Given the description of an element on the screen output the (x, y) to click on. 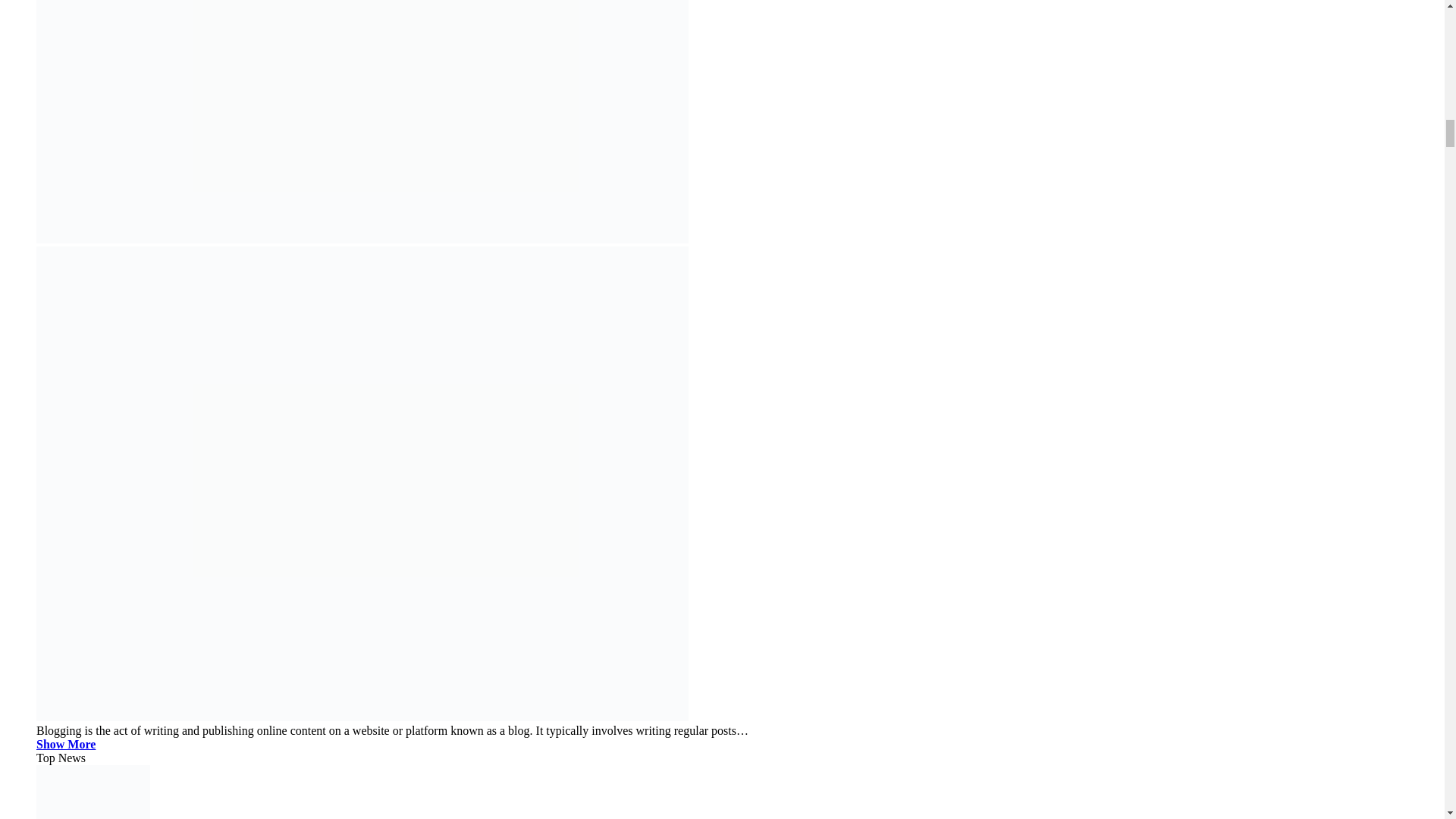
Show More (66, 744)
15 Essential Blogging Tips And Tricks For Beginners 2 (92, 791)
